Given the description of an element on the screen output the (x, y) to click on. 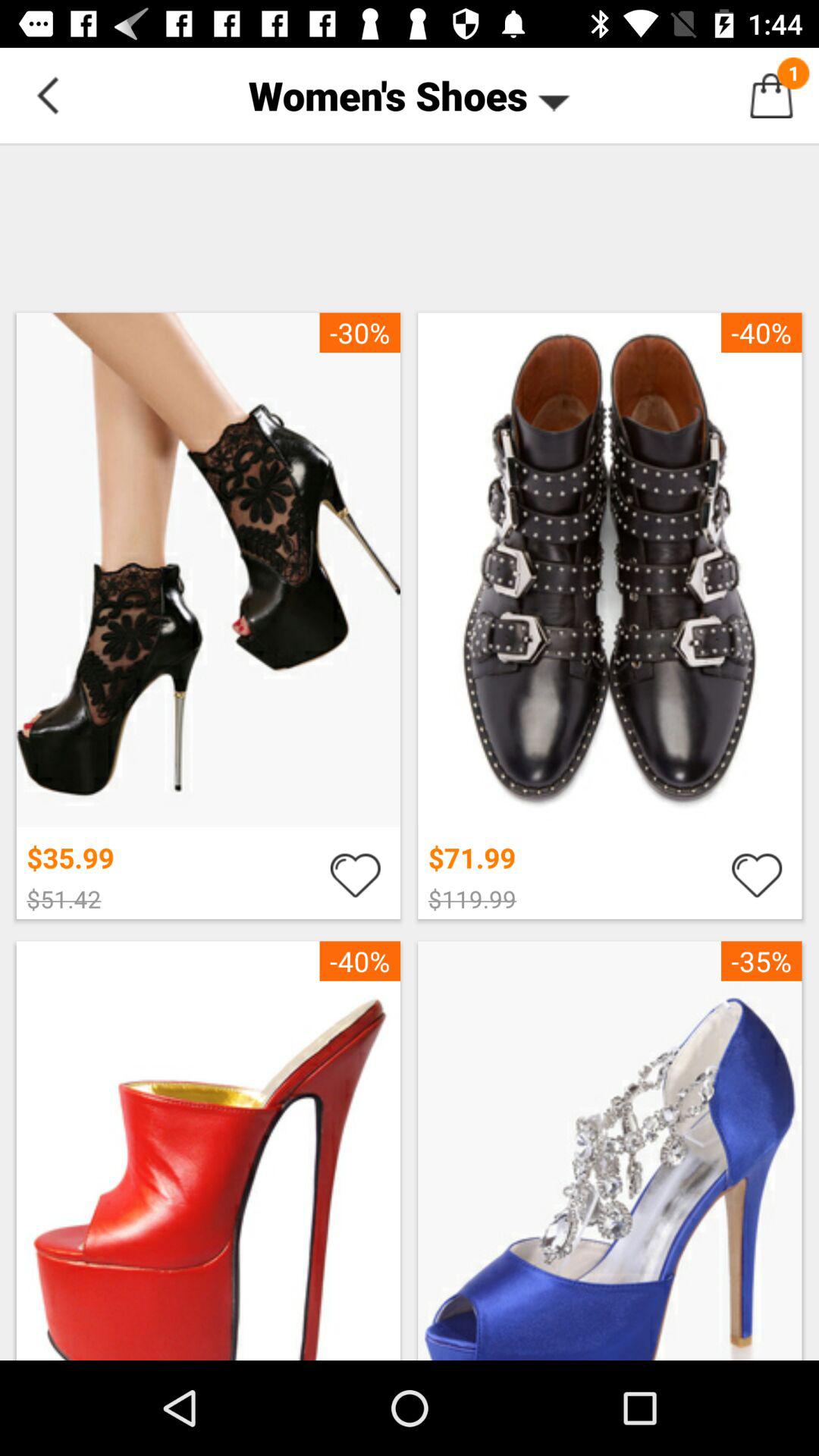
like the item (756, 874)
